Given the description of an element on the screen output the (x, y) to click on. 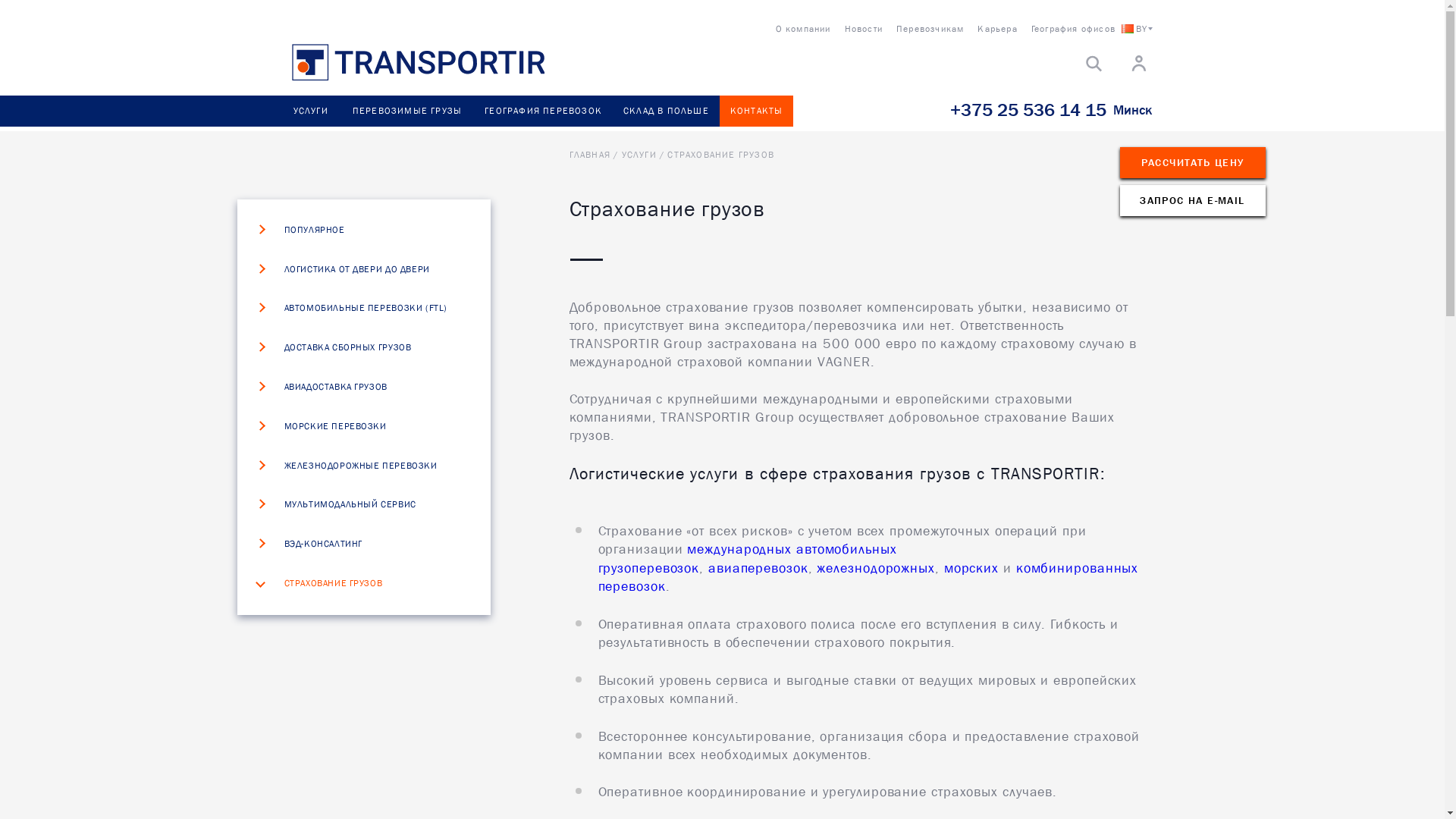
+375 25 536 14 15 Element type: text (1027, 109)
